Given the description of an element on the screen output the (x, y) to click on. 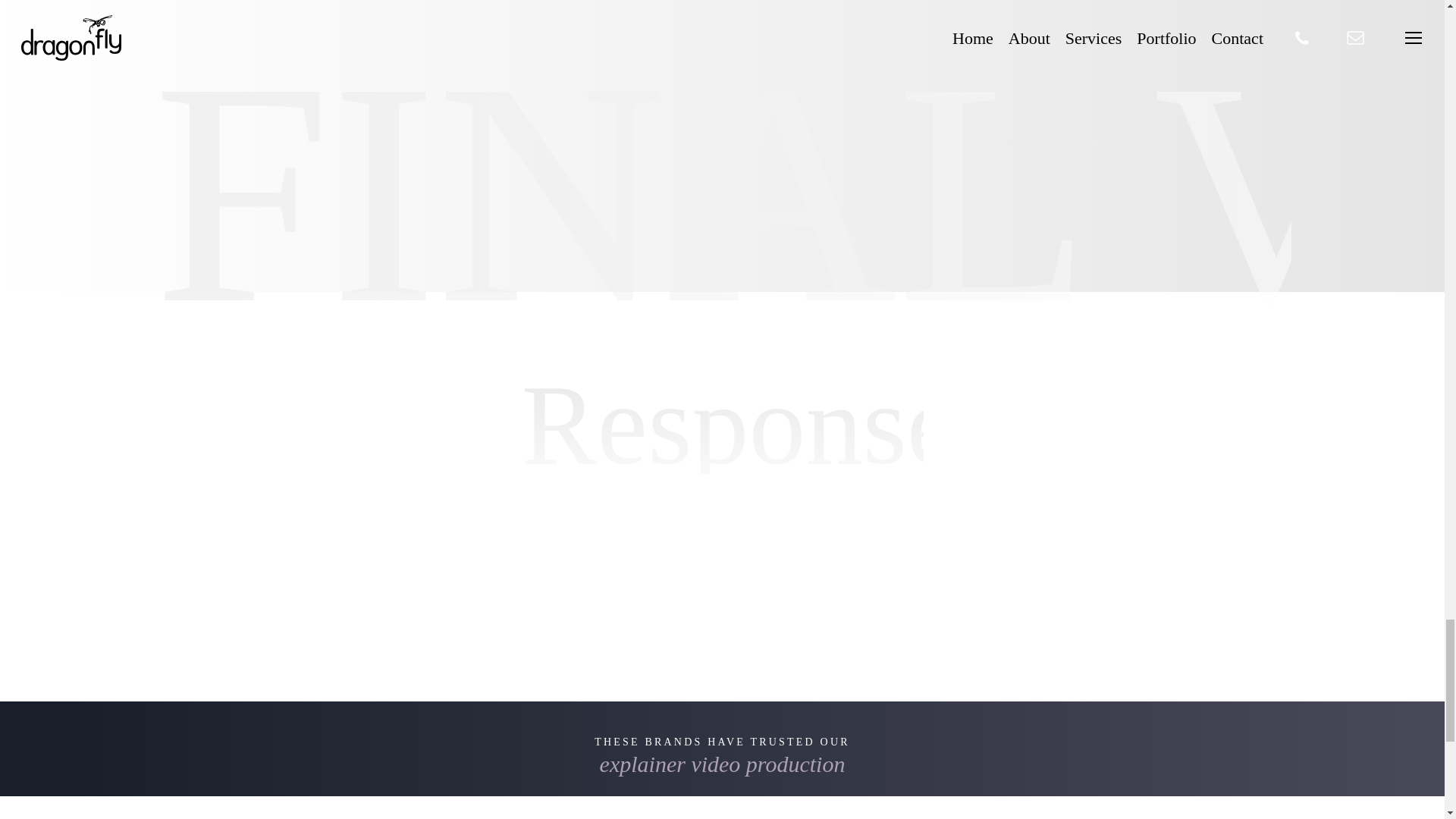
explainer video production (722, 763)
